Given the description of an element on the screen output the (x, y) to click on. 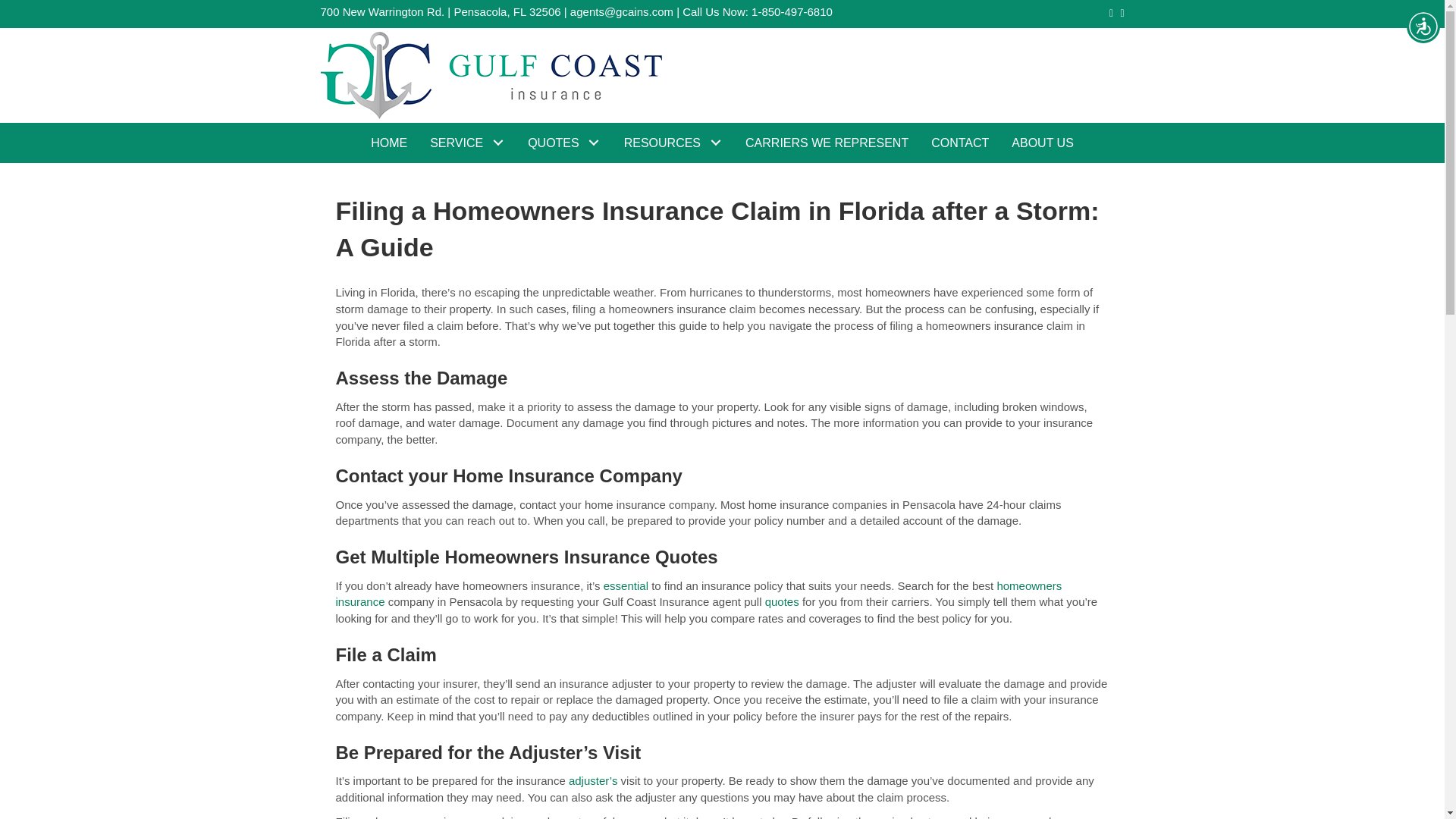
HOME (389, 142)
RESOURCES (672, 142)
ABOUT US (1042, 142)
CARRIERS WE REPRESENT (826, 142)
CONTACT (960, 142)
essential (627, 585)
SERVICE (467, 142)
QUOTES (564, 142)
Accessibility Menu (1422, 26)
1-850-497-6810 (791, 11)
